Given the description of an element on the screen output the (x, y) to click on. 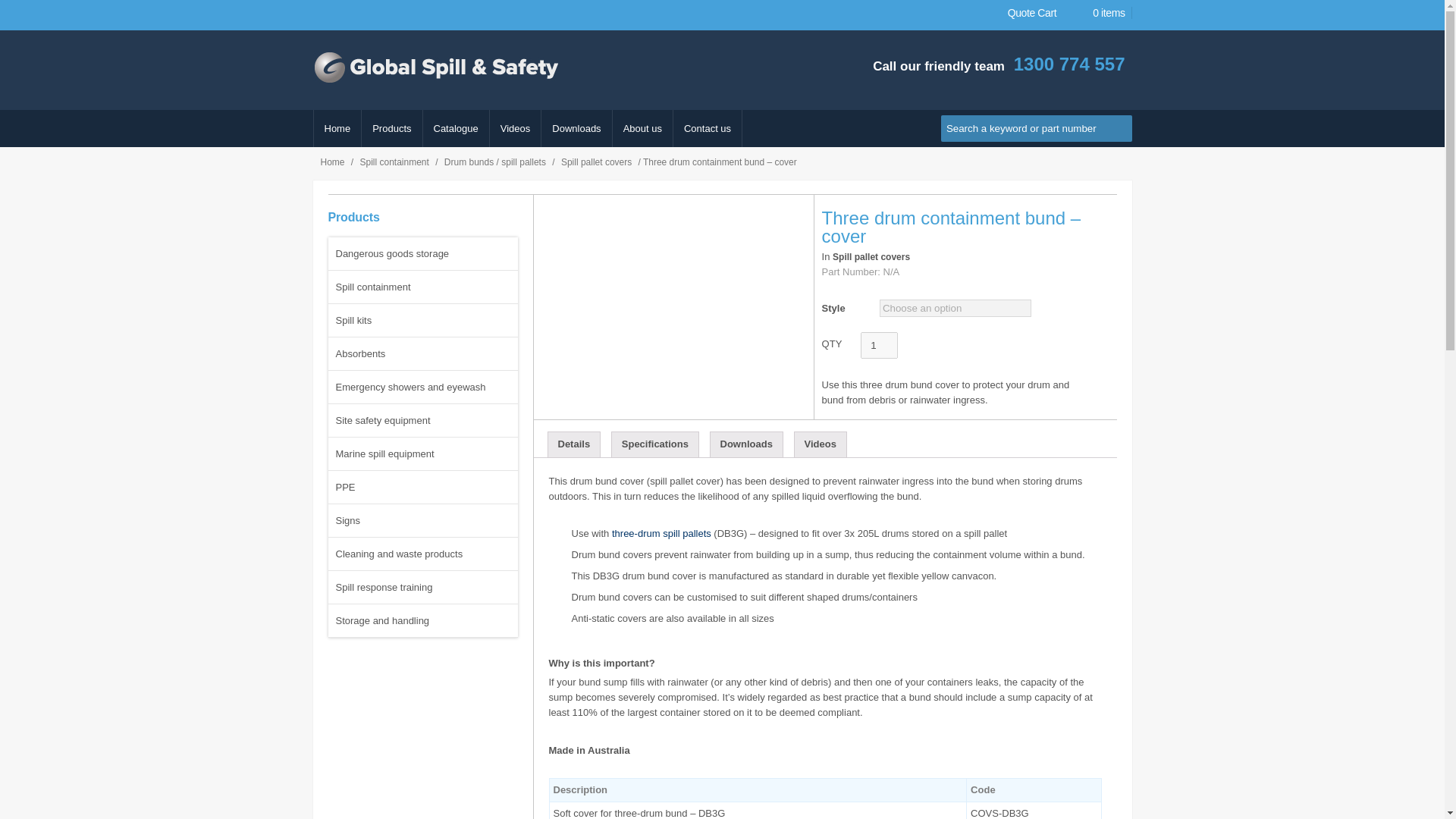
1 (878, 345)
1300 774 557 (1069, 64)
Downloads (576, 128)
About us (642, 128)
Quote Cart (1032, 12)
Catalogue (456, 128)
Videos (515, 128)
Products (391, 128)
Home (337, 128)
View your quote cart (1032, 12)
Qty (878, 345)
Contact us (706, 128)
